Given the description of an element on the screen output the (x, y) to click on. 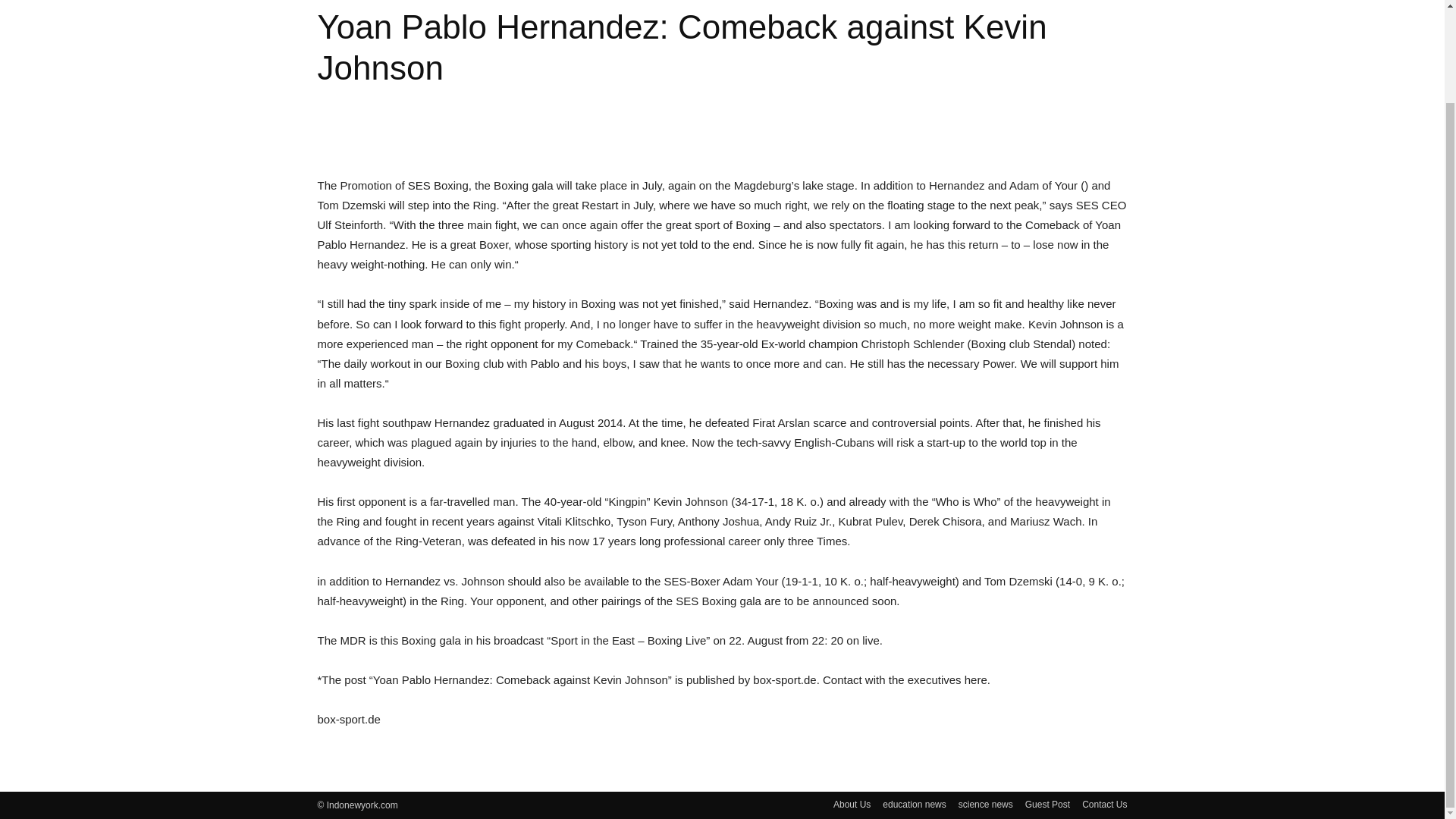
Contact Us (1103, 804)
About Us (851, 804)
Guest Post (1047, 804)
science news (985, 804)
education news (913, 804)
